Given the description of an element on the screen output the (x, y) to click on. 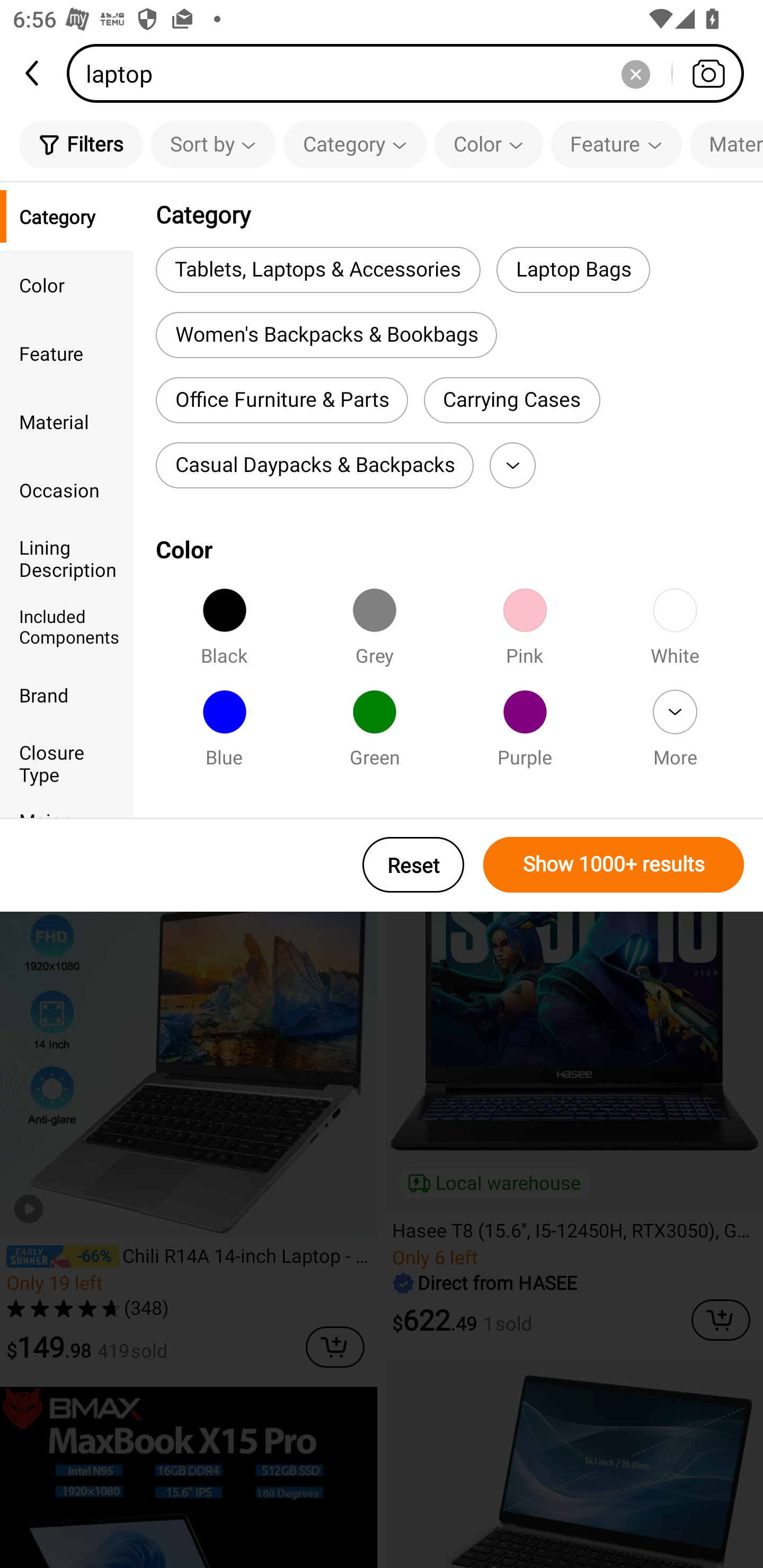
back (33, 72)
laptop (411, 73)
Delete search history (635, 73)
Search by photo (708, 73)
Filters (80, 143)
Sort by (212, 143)
Category (354, 143)
Color (488, 143)
Feature (616, 143)
Material (726, 143)
Category (66, 215)
Tablets, Laptops & Accessories (317, 269)
Laptop Bags (573, 269)
Color (66, 284)
Women's Backpacks & Bookbags (325, 334)
Feature (66, 352)
Office Furniture & Parts (281, 400)
Carrying Cases (512, 400)
Material (66, 421)
Casual Daypacks & Backpacks (314, 464)
More (512, 464)
Occasion (66, 489)
Lining Description (66, 557)
Included Components (66, 626)
Brand (66, 694)
More (674, 734)
Closure Type (66, 762)
Reset (412, 864)
Show 1000+ results (612, 864)
